Given the description of an element on the screen output the (x, y) to click on. 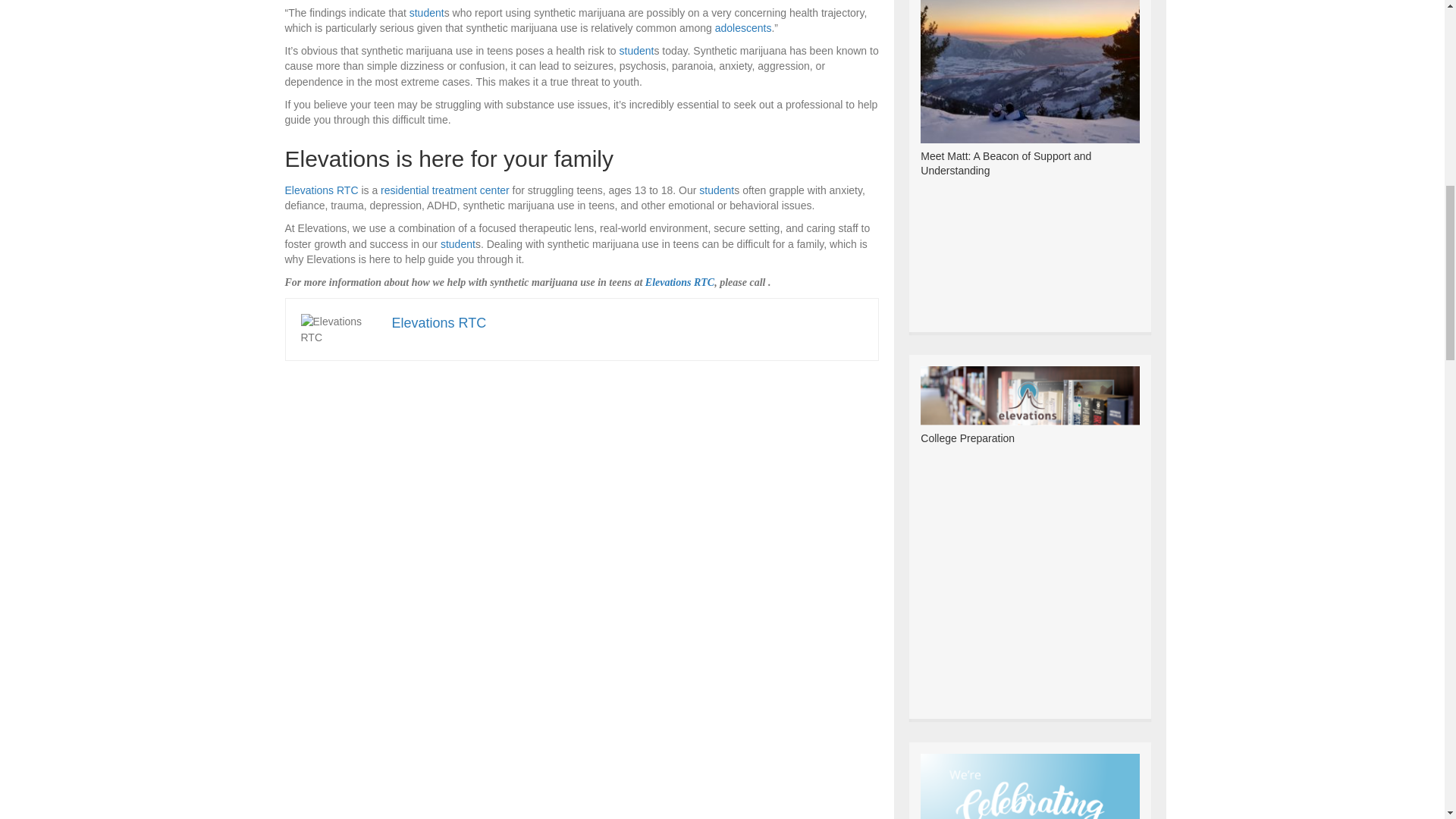
College Preparation (1029, 394)
Meet Matt: A Beacon of Support and Understanding (1005, 163)
Meet Matt: A Beacon of Support and Understanding (1029, 60)
College Preparation (967, 438)
